Given the description of an element on the screen output the (x, y) to click on. 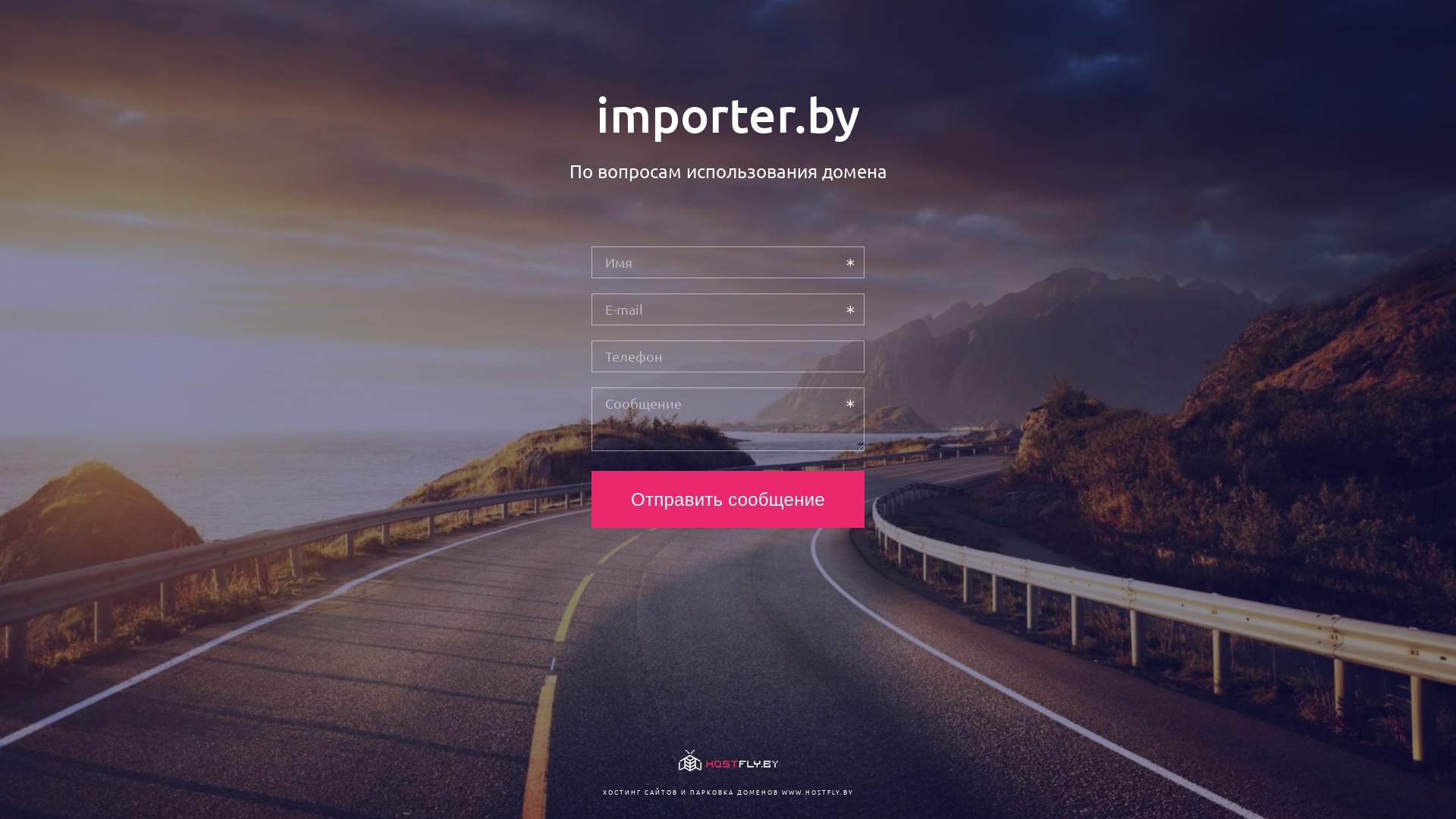
WWW.HOSTFLY.BY Element type: text (817, 791)
